Given the description of an element on the screen output the (x, y) to click on. 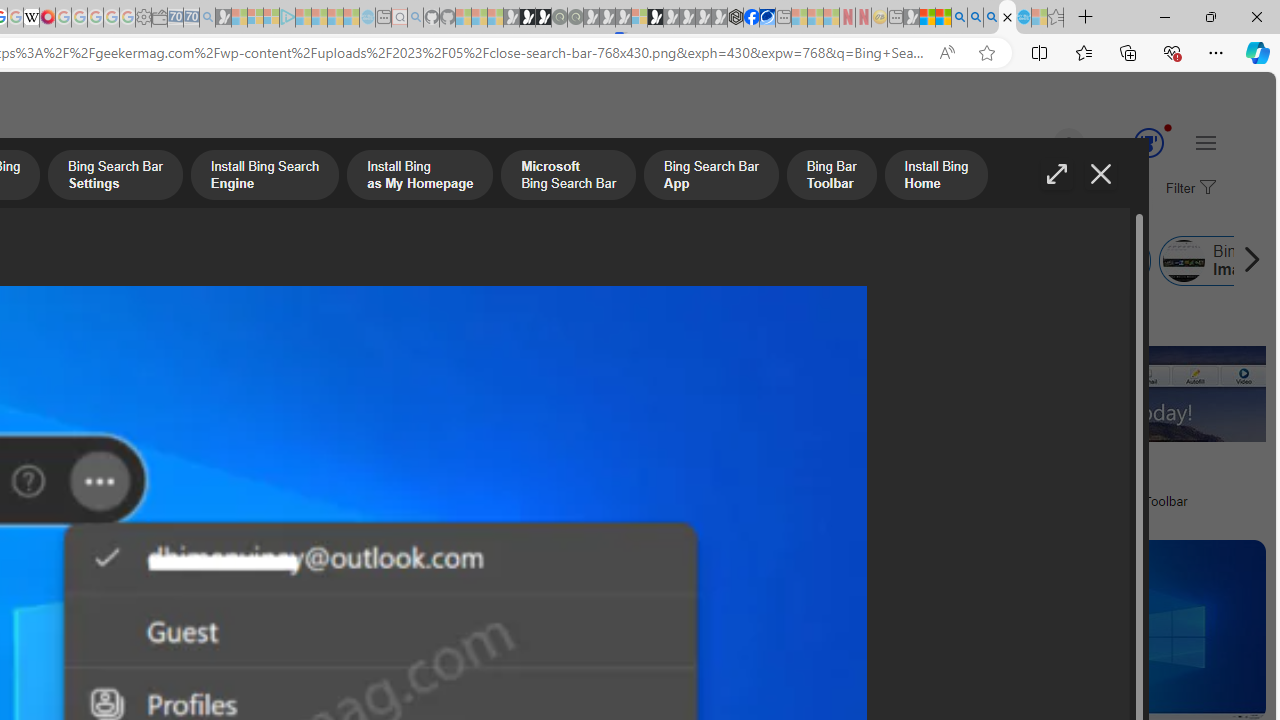
3:12 (652, 558)
Bing Bar Toolbar (561, 260)
Eugene (1041, 143)
Download Bing Bar, the new Bing ToolbarSave (1104, 417)
AutomationID: serp_medal_svg (1148, 142)
Nordace - Cooler Bags (735, 17)
